Given the description of an element on the screen output the (x, y) to click on. 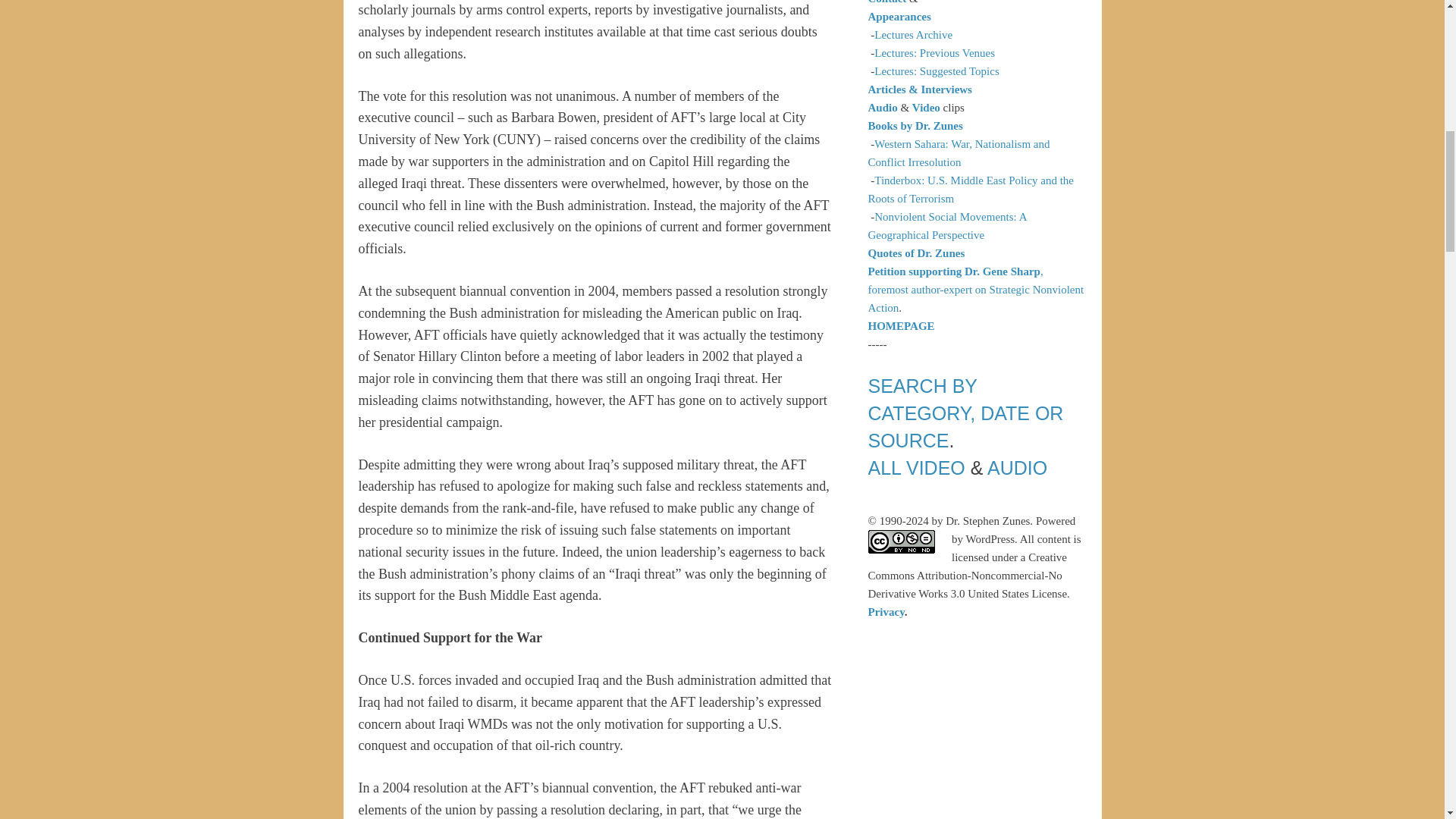
Appearances (898, 16)
Books by Dr. Zunes (914, 125)
HOMEPAGE (900, 326)
Western Sahara: War, Nationalism and Conflict Irresolution (958, 153)
Lectures Archive (913, 34)
Lectures: Suggested Topics (936, 70)
Video (926, 107)
Lectures: Previous Venues (934, 52)
